Given the description of an element on the screen output the (x, y) to click on. 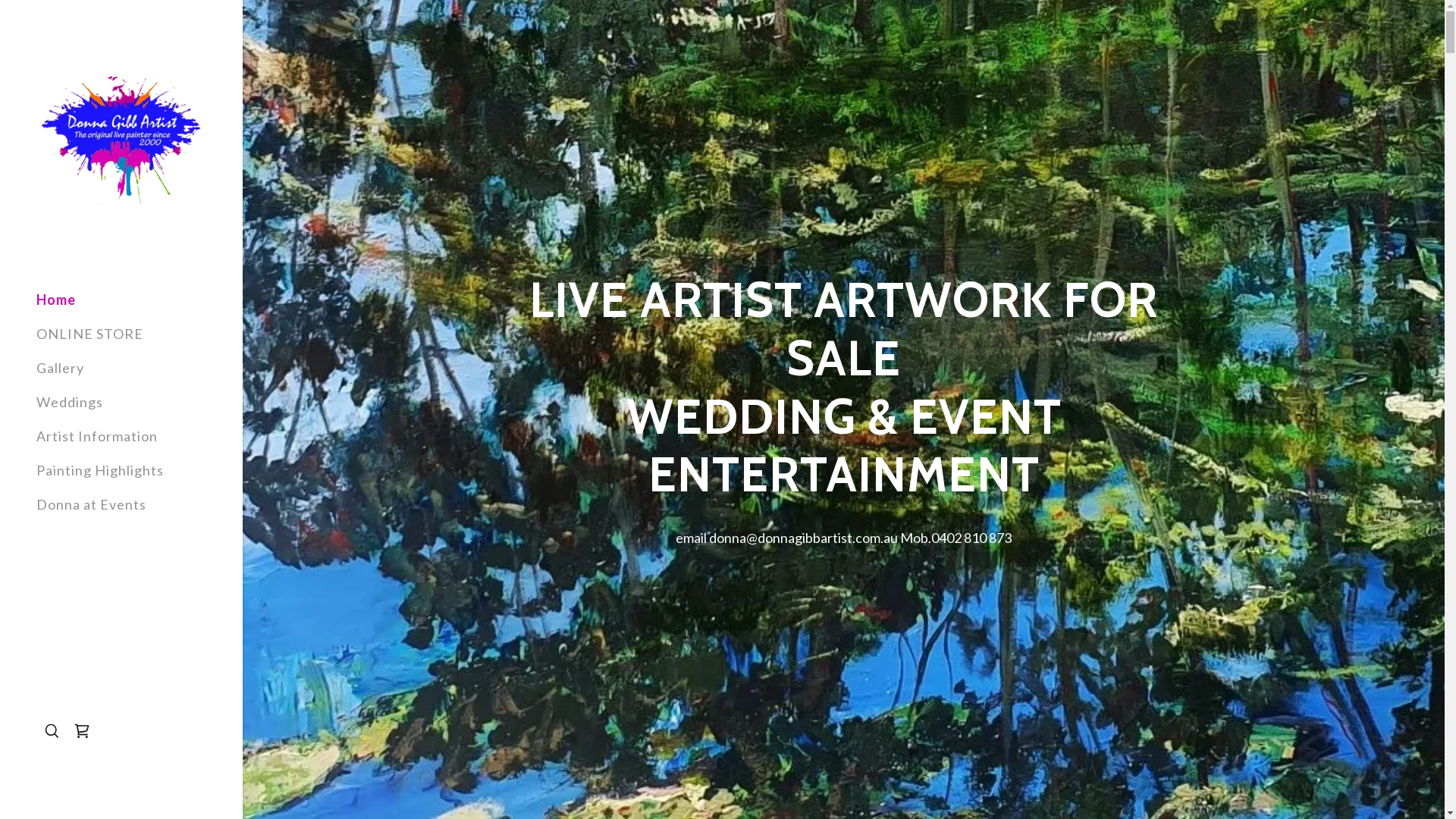
Home Element type: text (55, 299)
.0402 810 873 Element type: text (969, 537)
Donna at Events Element type: text (91, 503)
Painting Highlights Element type: text (99, 469)
ONLINE STORE Element type: text (89, 333)
Gallery Element type: text (60, 367)
Donna Gibb Artist Element type: hover (121, 137)
Artist Information Element type: text (96, 435)
donna@donnagibbartist.com.au Element type: text (803, 537)
Weddings Element type: text (69, 401)
